Given the description of an element on the screen output the (x, y) to click on. 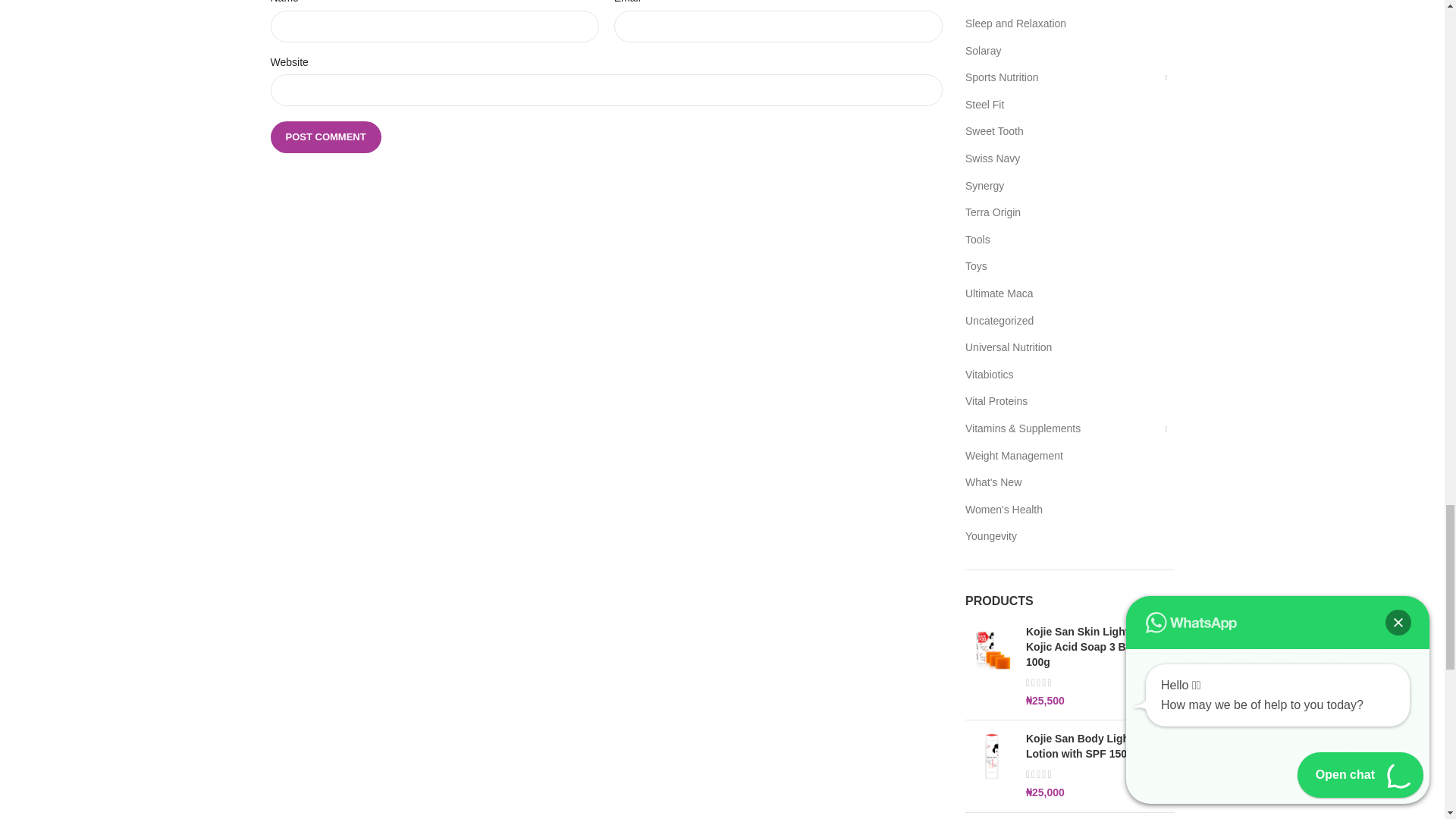
Kojie San Skin Lightening Kojic Acid Soap 3 Bars - 100g (1100, 646)
Kojie San Body Lightening Lotion with SPF 150ml Bottle (1100, 746)
Post Comment (324, 137)
